Given the description of an element on the screen output the (x, y) to click on. 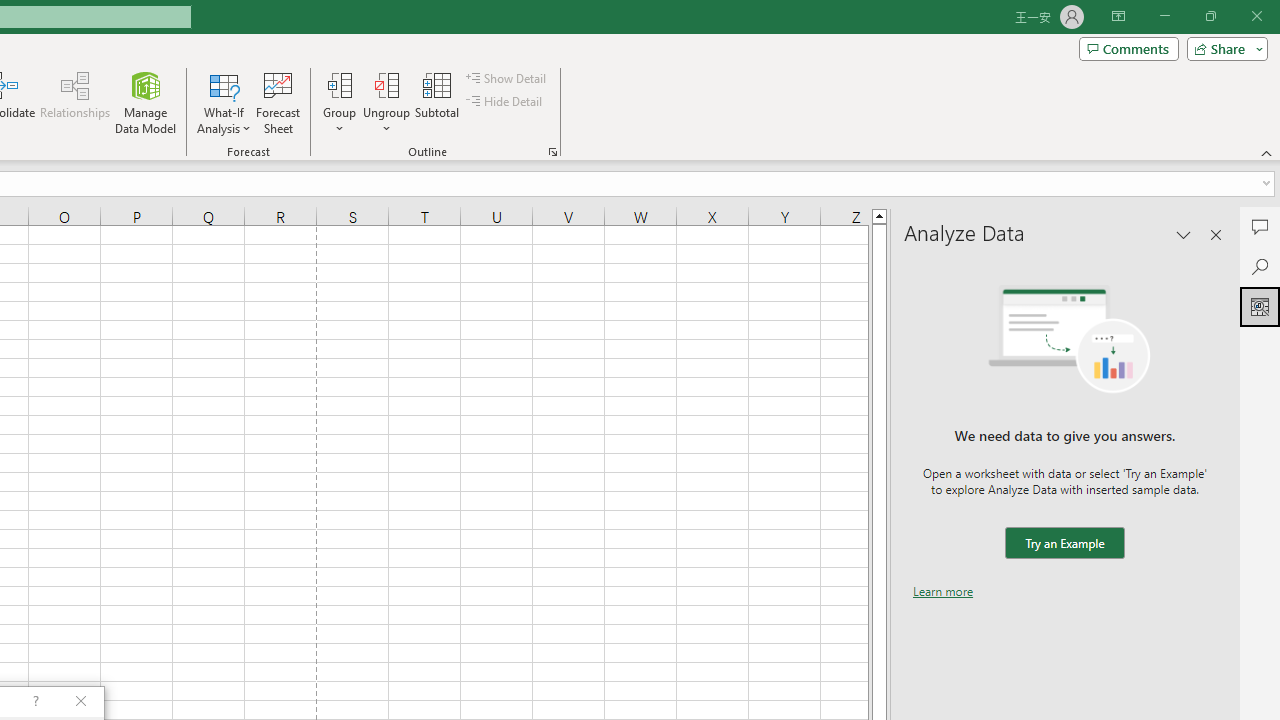
Close pane (1215, 234)
Show Detail (507, 78)
We need data to give you answers. Try an Example (1064, 543)
Relationships (75, 102)
What-If Analysis (223, 102)
Analyze Data (1260, 306)
